Given the description of an element on the screen output the (x, y) to click on. 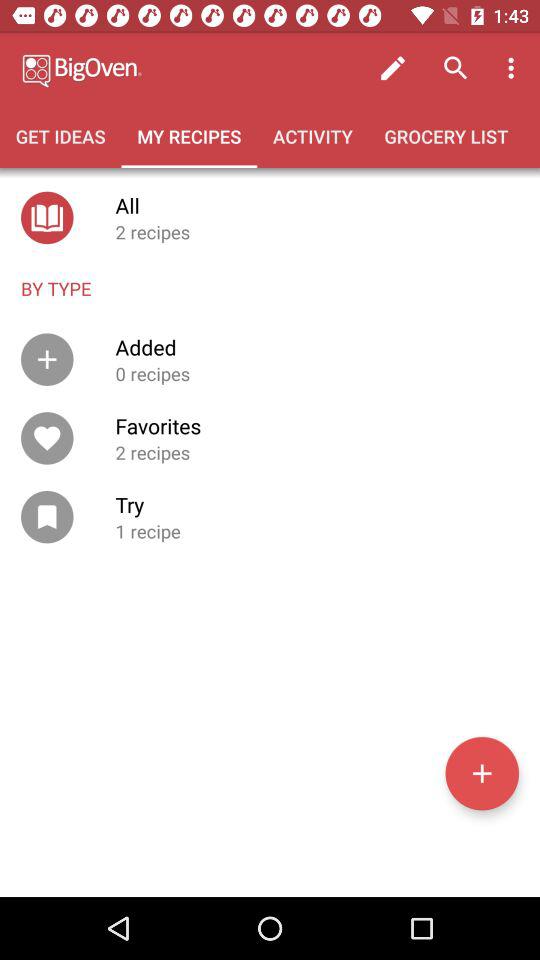
select item at the bottom right corner (482, 773)
